Given the description of an element on the screen output the (x, y) to click on. 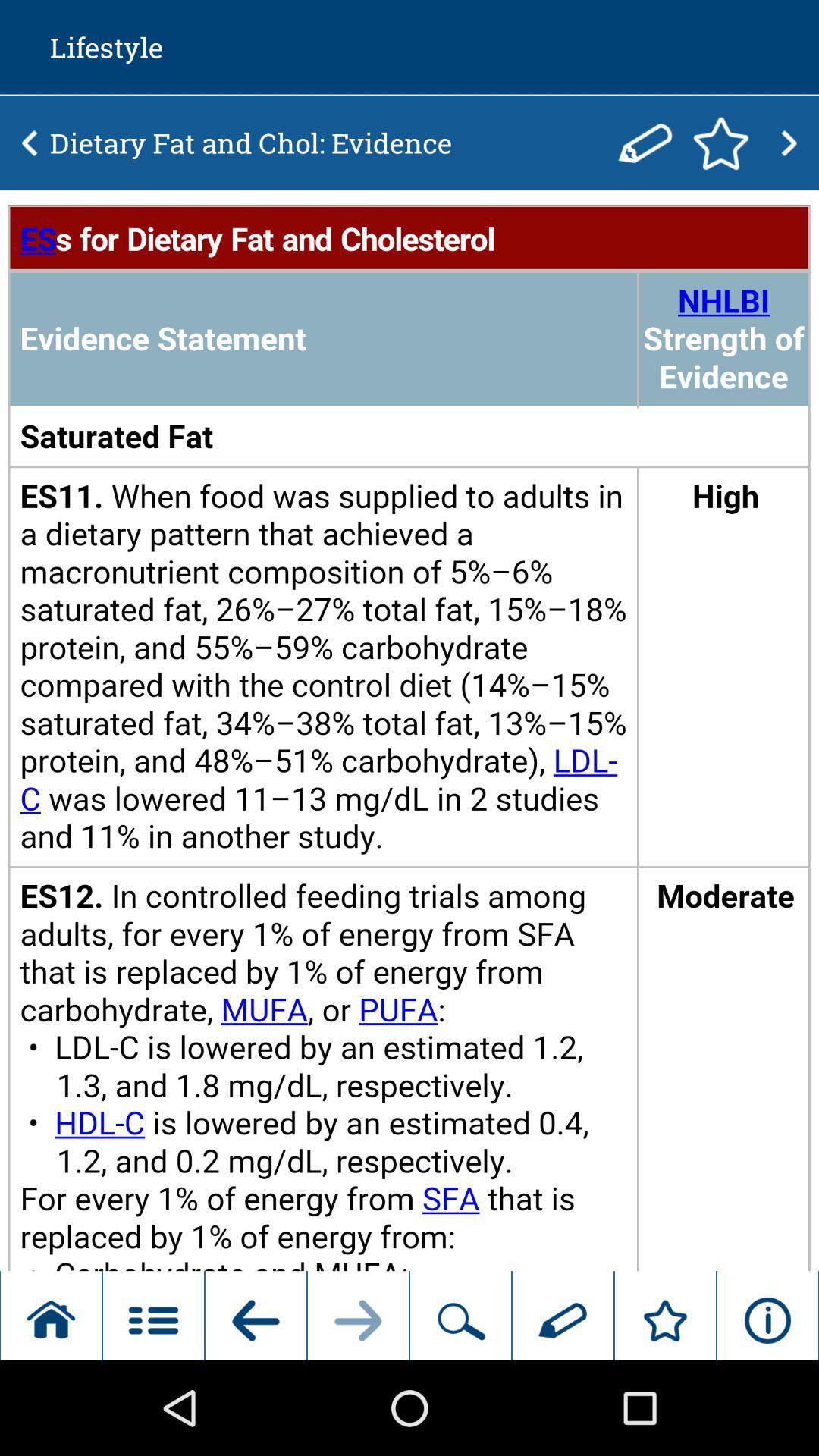
go to previous (30, 143)
